Given the description of an element on the screen output the (x, y) to click on. 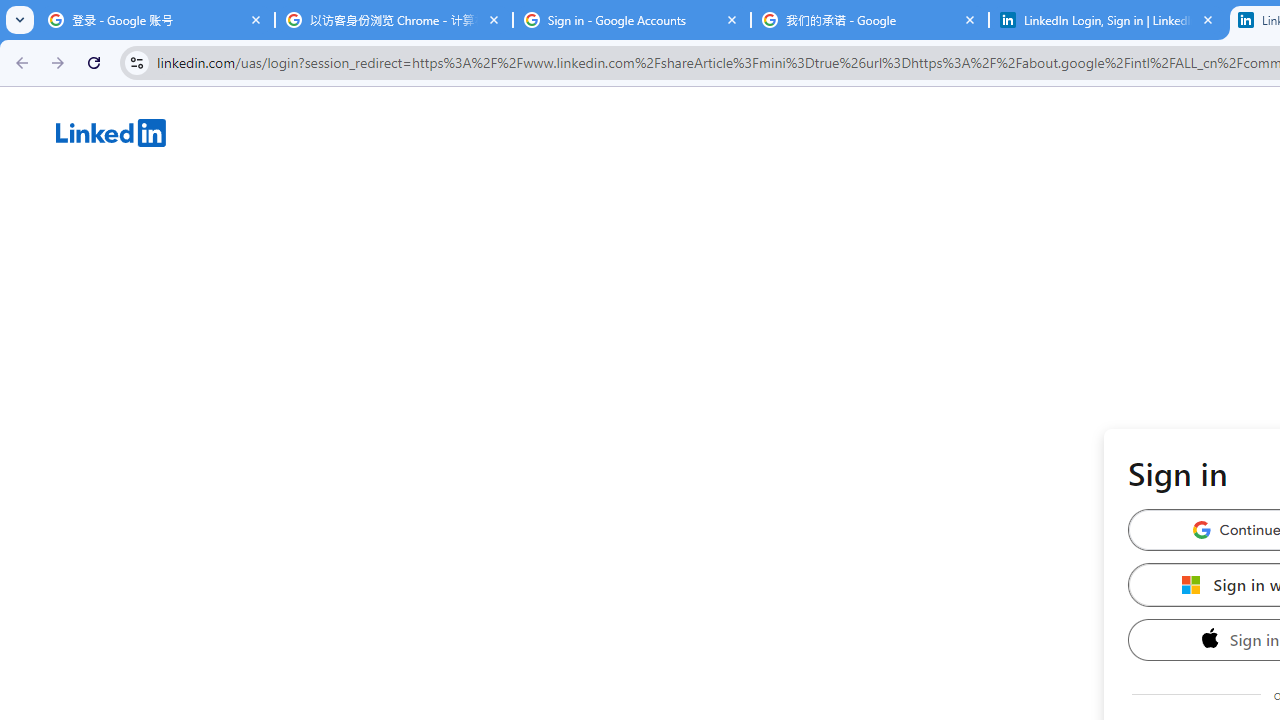
LinkedIn Login, Sign in | LinkedIn (1108, 20)
Sign in - Google Accounts (632, 20)
AutomationID: linkedin-logo (111, 132)
Microsoft (1191, 583)
